Given the description of an element on the screen output the (x, y) to click on. 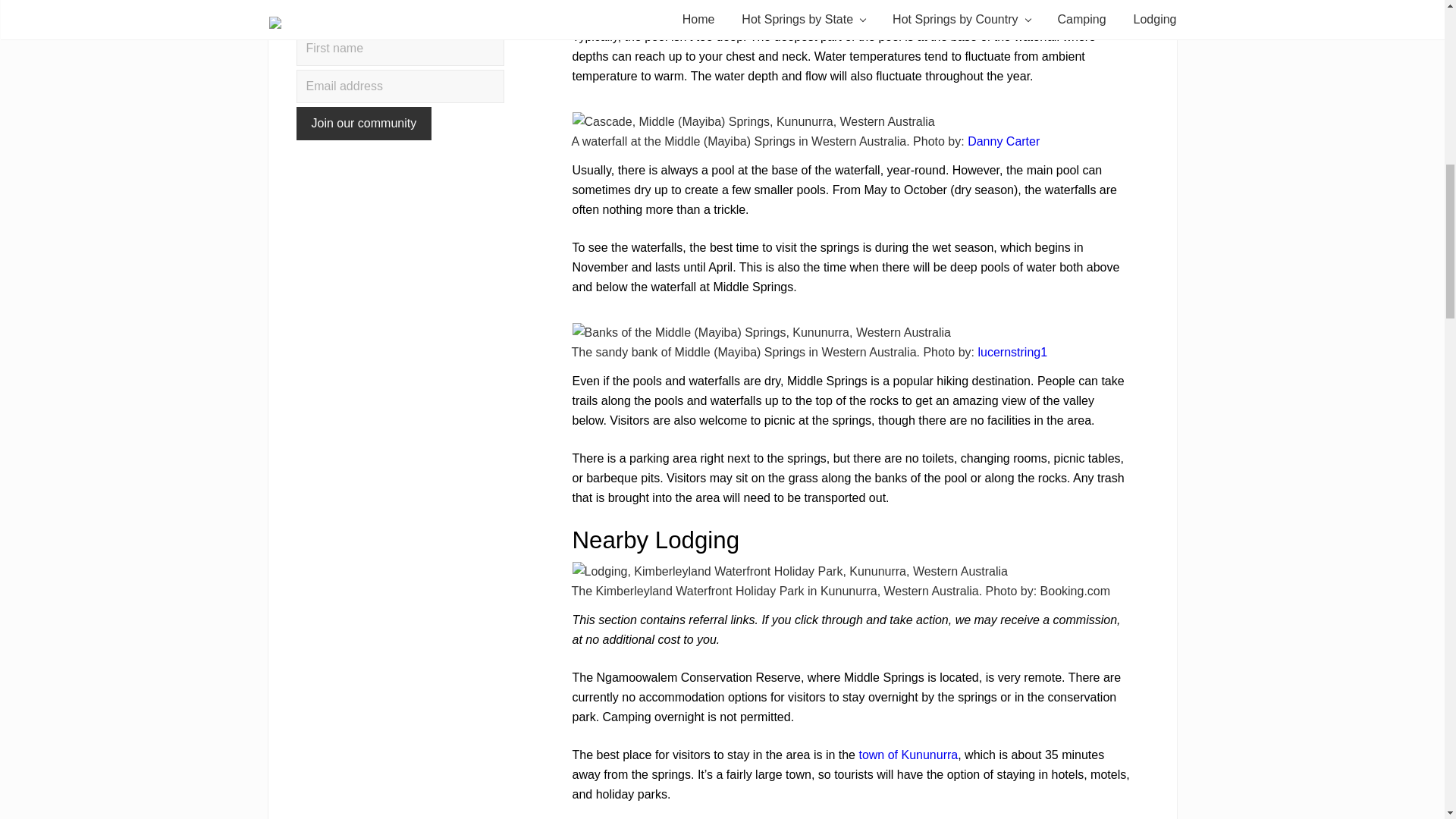
Join our community (362, 123)
